Given the description of an element on the screen output the (x, y) to click on. 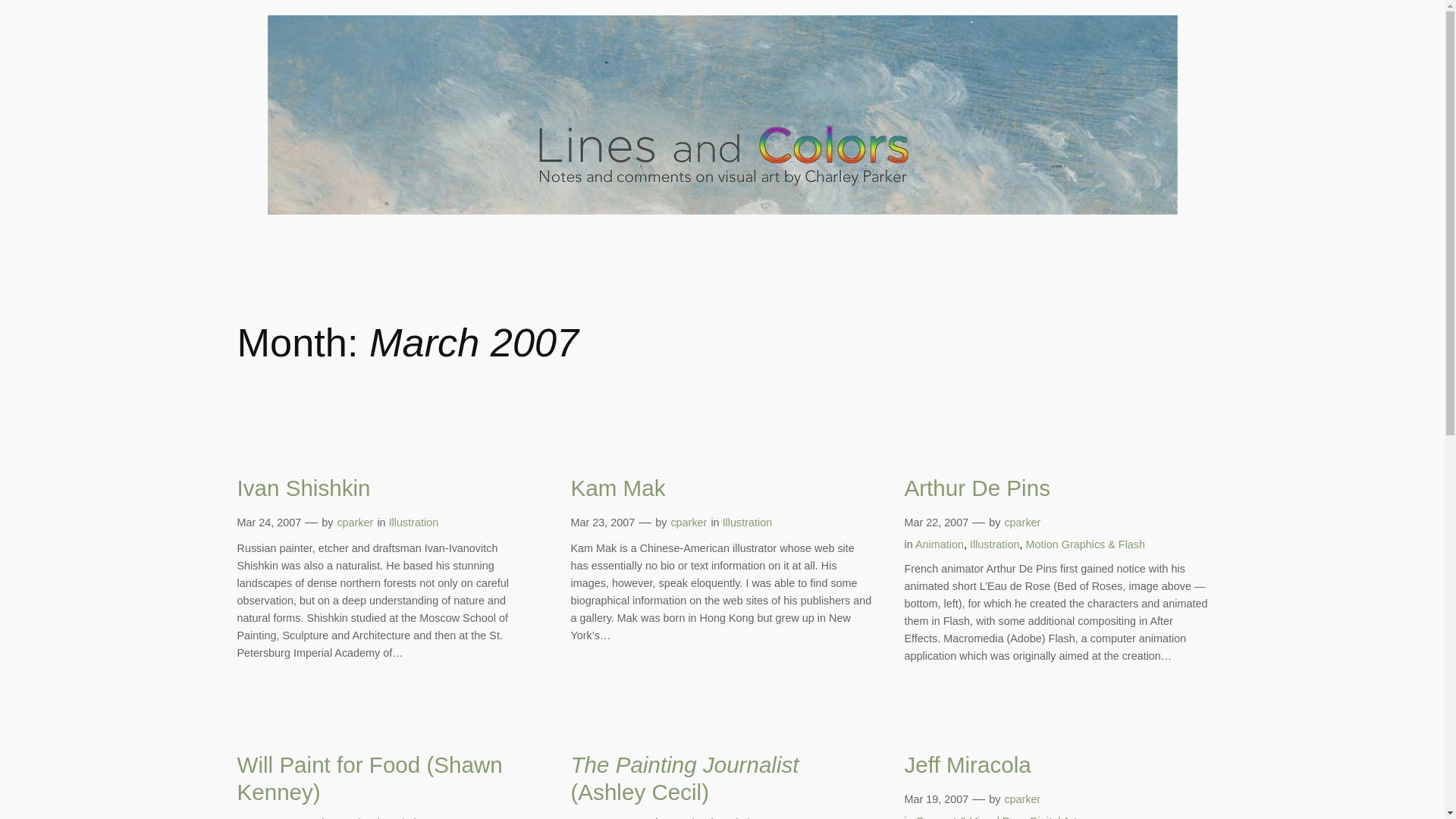
Kam Mak (617, 488)
Mar 19, 2007 (936, 799)
Mar 21, 2007 (602, 817)
Illustration (747, 522)
Mar 23, 2007 (602, 522)
Mar 22, 2007 (936, 522)
cparker (354, 522)
Painting (741, 817)
Painting a Day (424, 817)
Arthur De Pins (976, 488)
